Given the description of an element on the screen output the (x, y) to click on. 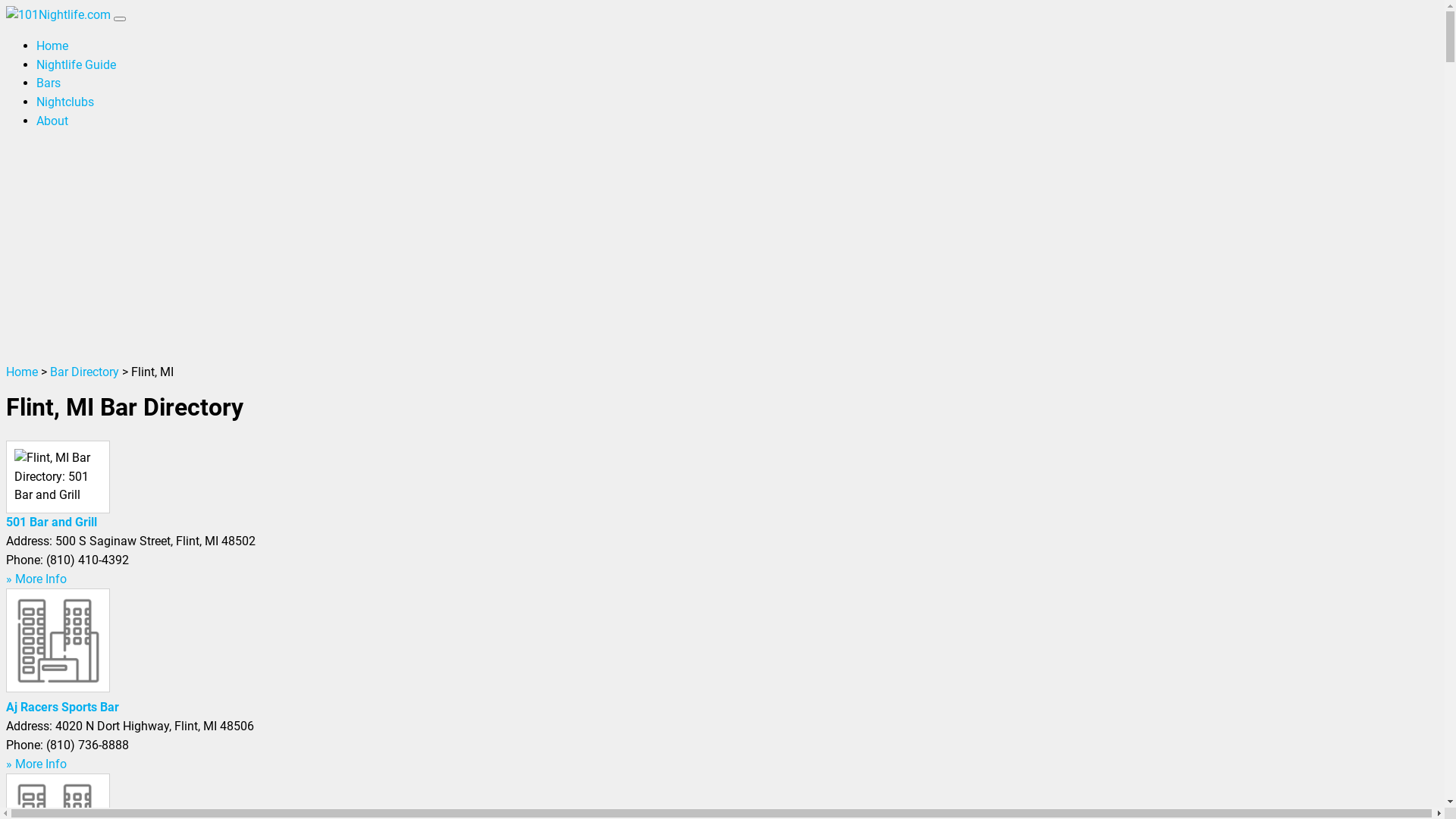
Home Element type: text (52, 45)
Home Element type: text (21, 371)
501 Bar and Grill Element type: text (51, 521)
Nightlife Guide Element type: text (76, 64)
Advertisement Element type: hover (721, 249)
About Element type: text (52, 120)
Nightclubs Element type: text (65, 101)
Bars Element type: text (48, 82)
Bar Directory Element type: text (84, 371)
Aj Racers Sports Bar Element type: text (62, 706)
